Given the description of an element on the screen output the (x, y) to click on. 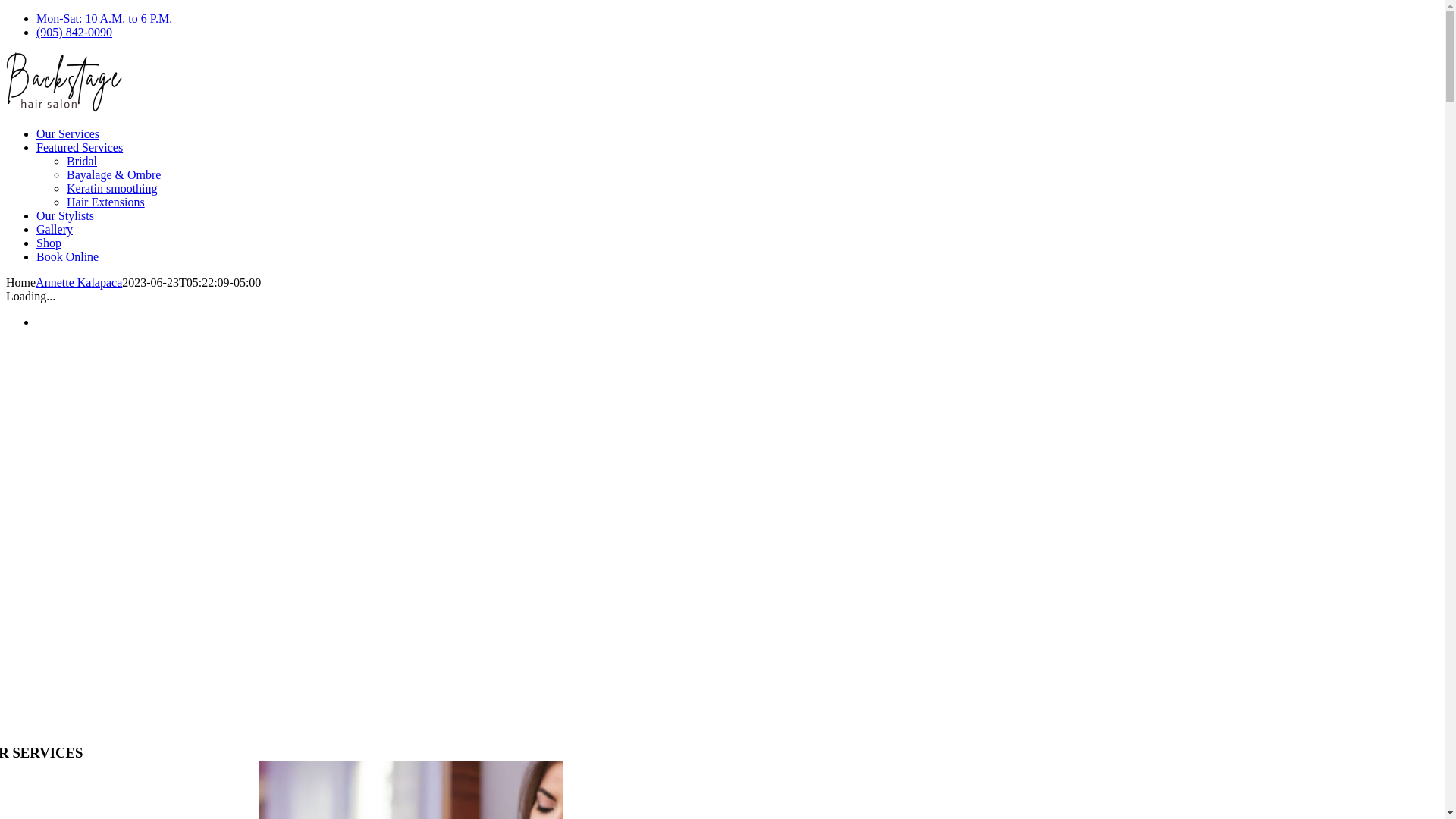
Keratin smoothing Element type: text (111, 188)
(905) 842-0090 Element type: text (74, 31)
Bayalage & Ombre Element type: text (113, 174)
Hair Extensions Element type: text (105, 201)
Annette Kalapaca Element type: text (78, 282)
Shop Element type: text (48, 242)
Book Online Element type: text (67, 256)
Our Services Element type: text (67, 133)
Gallery Element type: text (54, 228)
Featured Services Element type: text (79, 147)
Skip to content Element type: text (5, 11)
Our Stylists Element type: text (65, 215)
Mon-Sat: 10 A.M. to 6 P.M. Element type: text (104, 18)
Bridal Element type: text (81, 160)
